Given the description of an element on the screen output the (x, y) to click on. 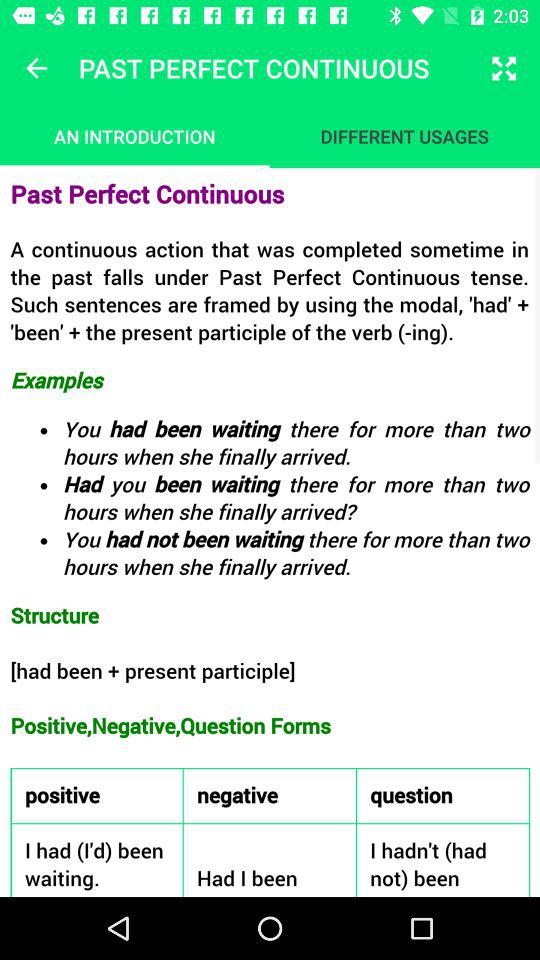
go back (36, 68)
